Given the description of an element on the screen output the (x, y) to click on. 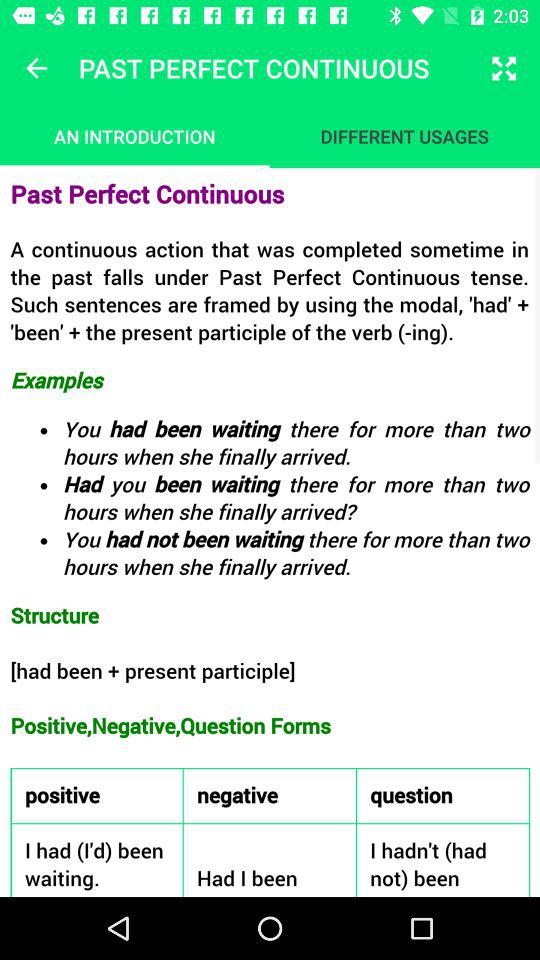
go back (36, 68)
